Given the description of an element on the screen output the (x, y) to click on. 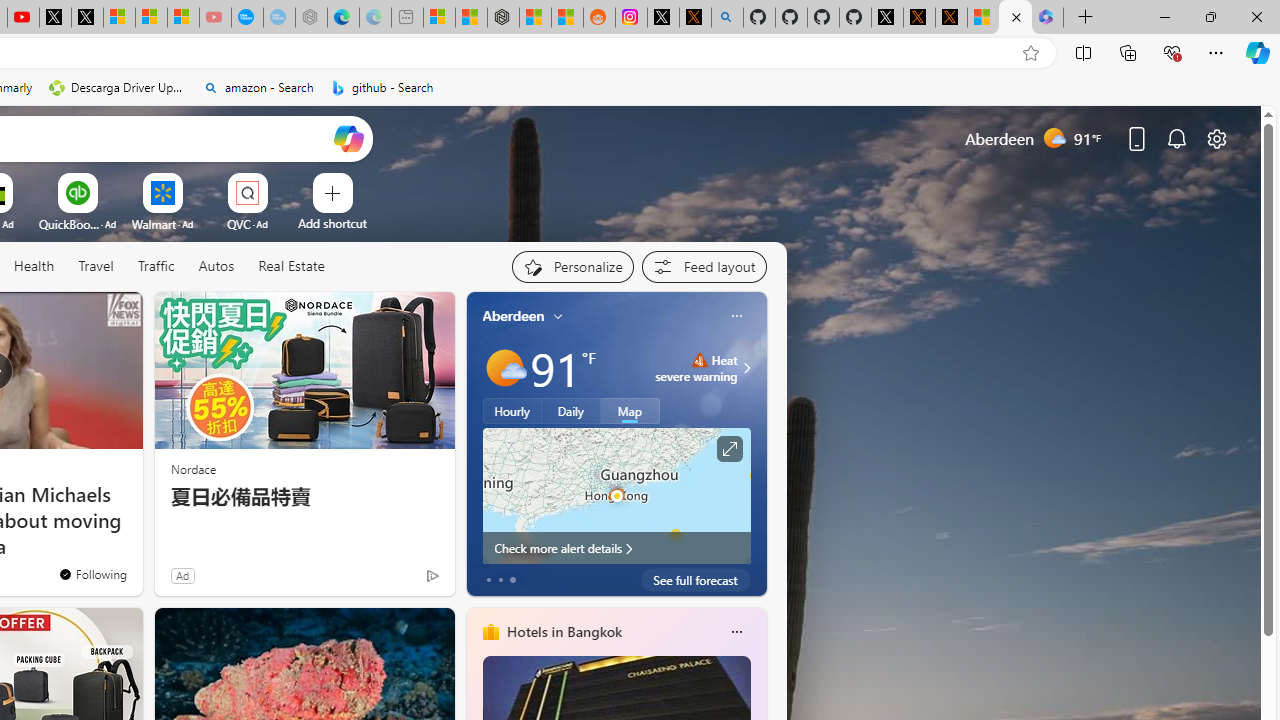
Hourly (511, 411)
github - Search (381, 88)
Travel (95, 265)
Class: icon-img (736, 632)
Autos (215, 265)
Health (34, 265)
Mostly sunny (504, 368)
Notifications (1176, 138)
See full forecast (695, 579)
